Given the description of an element on the screen output the (x, y) to click on. 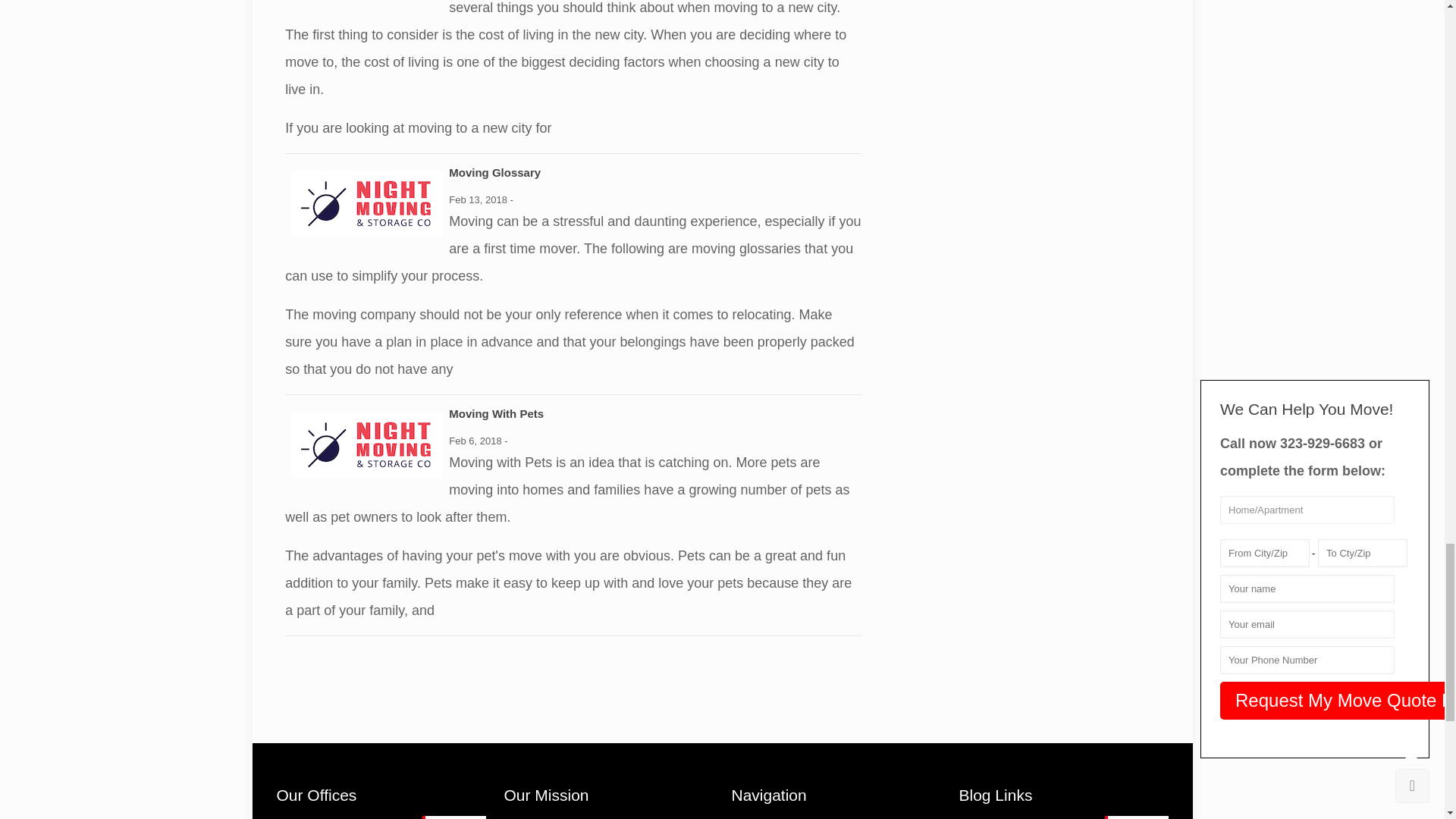
MovingGlossary Night Movers (366, 203)
MovingWithPets Night Movers (366, 445)
Night Time Moving Night Movers (454, 817)
How To Sell Your Stuff Before You Move Night Movers (1136, 817)
